Given the description of an element on the screen output the (x, y) to click on. 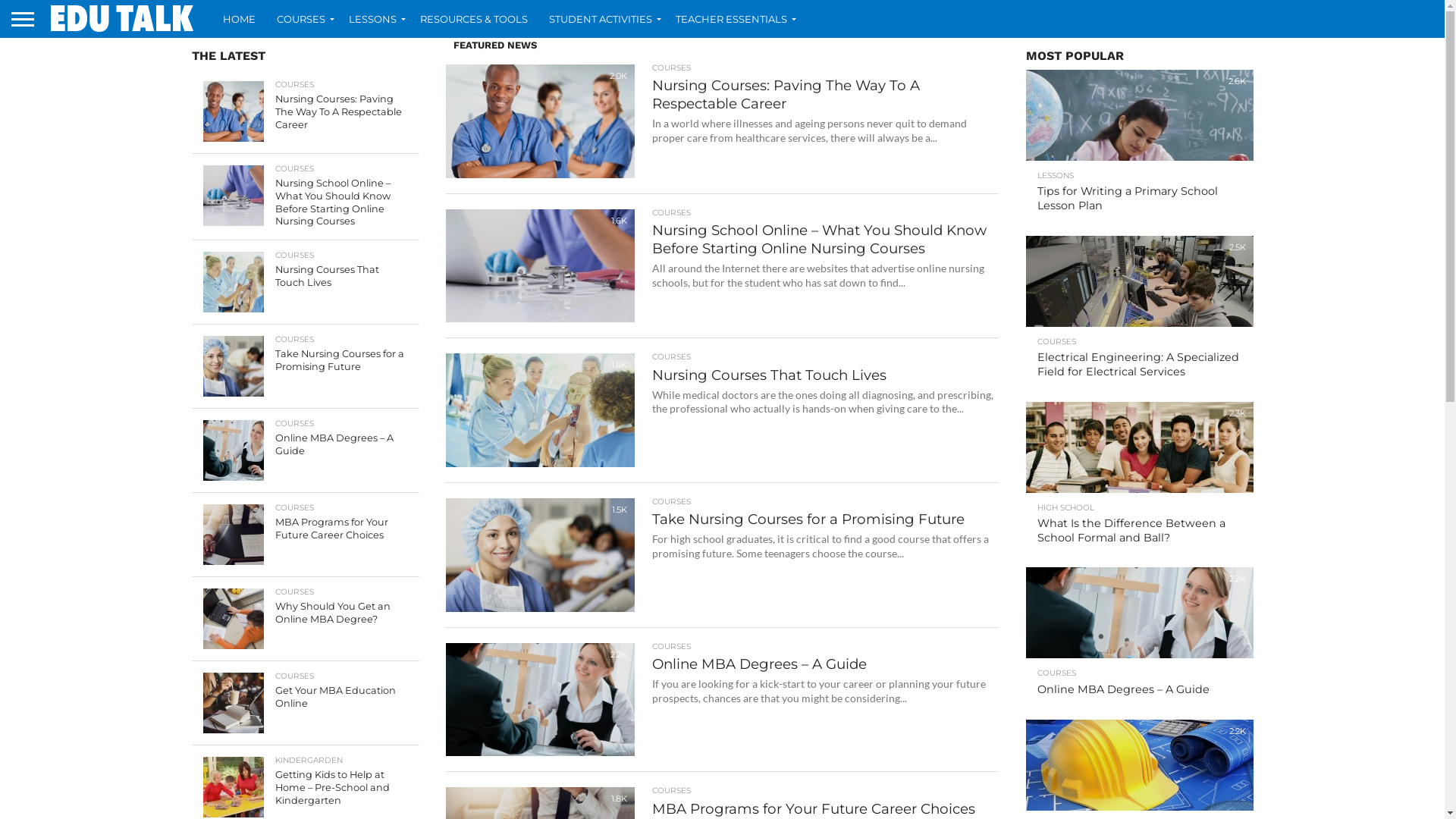
HOME Element type: text (239, 18)
COURSES Element type: text (302, 18)
LESSONS Element type: text (373, 18)
STUDENT ACTIVITIES Element type: text (601, 18)
TEACHER ESSENTIALS Element type: text (732, 18)
RESOURCES & TOOLS Element type: text (473, 18)
